Given the description of an element on the screen output the (x, y) to click on. 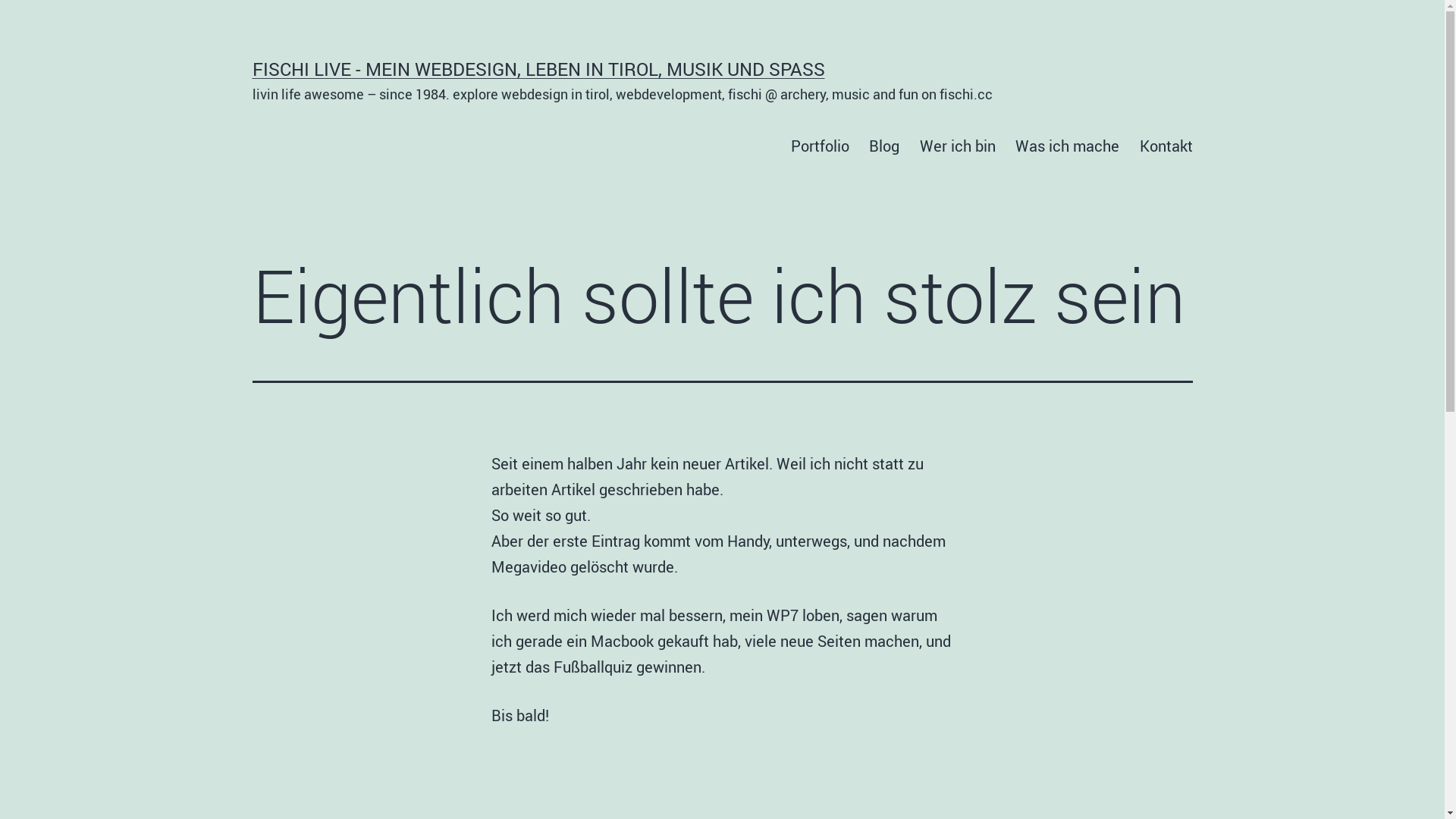
Was ich mache Element type: text (1067, 144)
Blog Element type: text (884, 144)
Portfolio Element type: text (820, 144)
Kontakt Element type: text (1165, 144)
Wer ich bin Element type: text (957, 144)
